Given the description of an element on the screen output the (x, y) to click on. 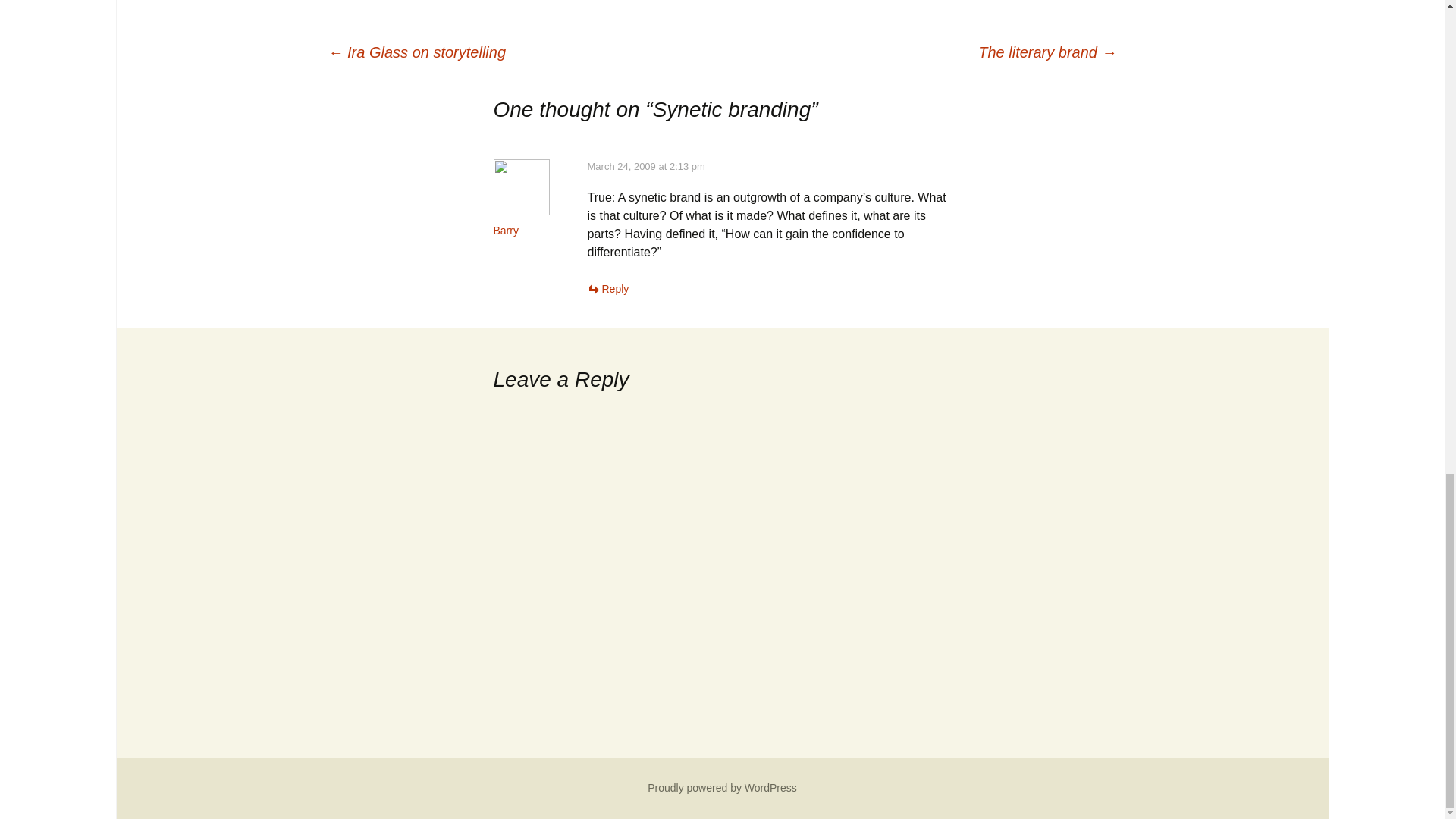
March 24, 2009 at 2:13 pm (645, 165)
Reply (607, 288)
Proudly powered by WordPress (721, 787)
